Given the description of an element on the screen output the (x, y) to click on. 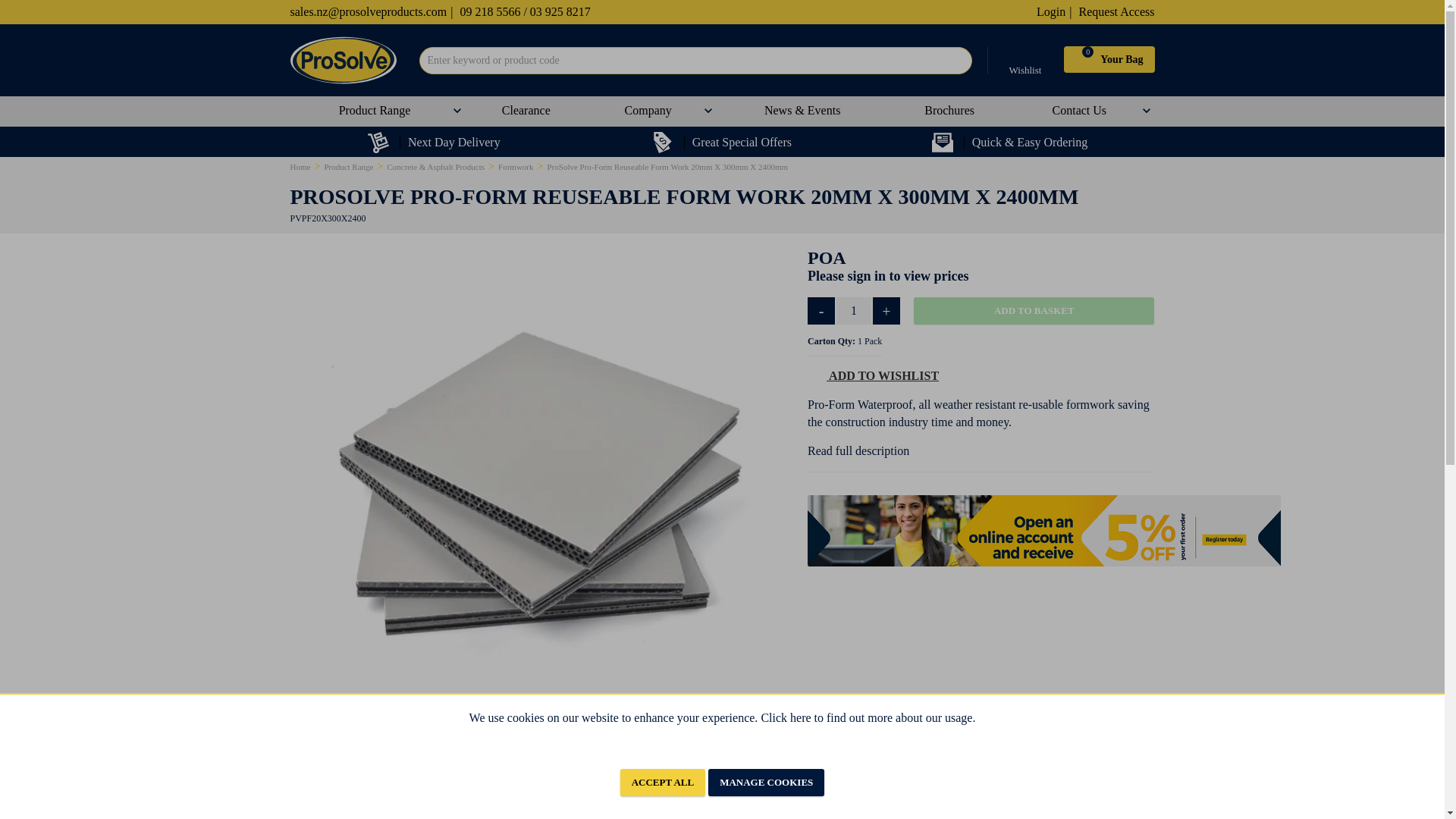
Login (1053, 11)
Wishlist (1025, 59)
1 (852, 310)
Wishlist (1025, 59)
Request Access (1116, 11)
Product Range (377, 111)
Prosolve Products (342, 59)
Enter keyword or product code (695, 60)
Product Range (377, 111)
